Given the description of an element on the screen output the (x, y) to click on. 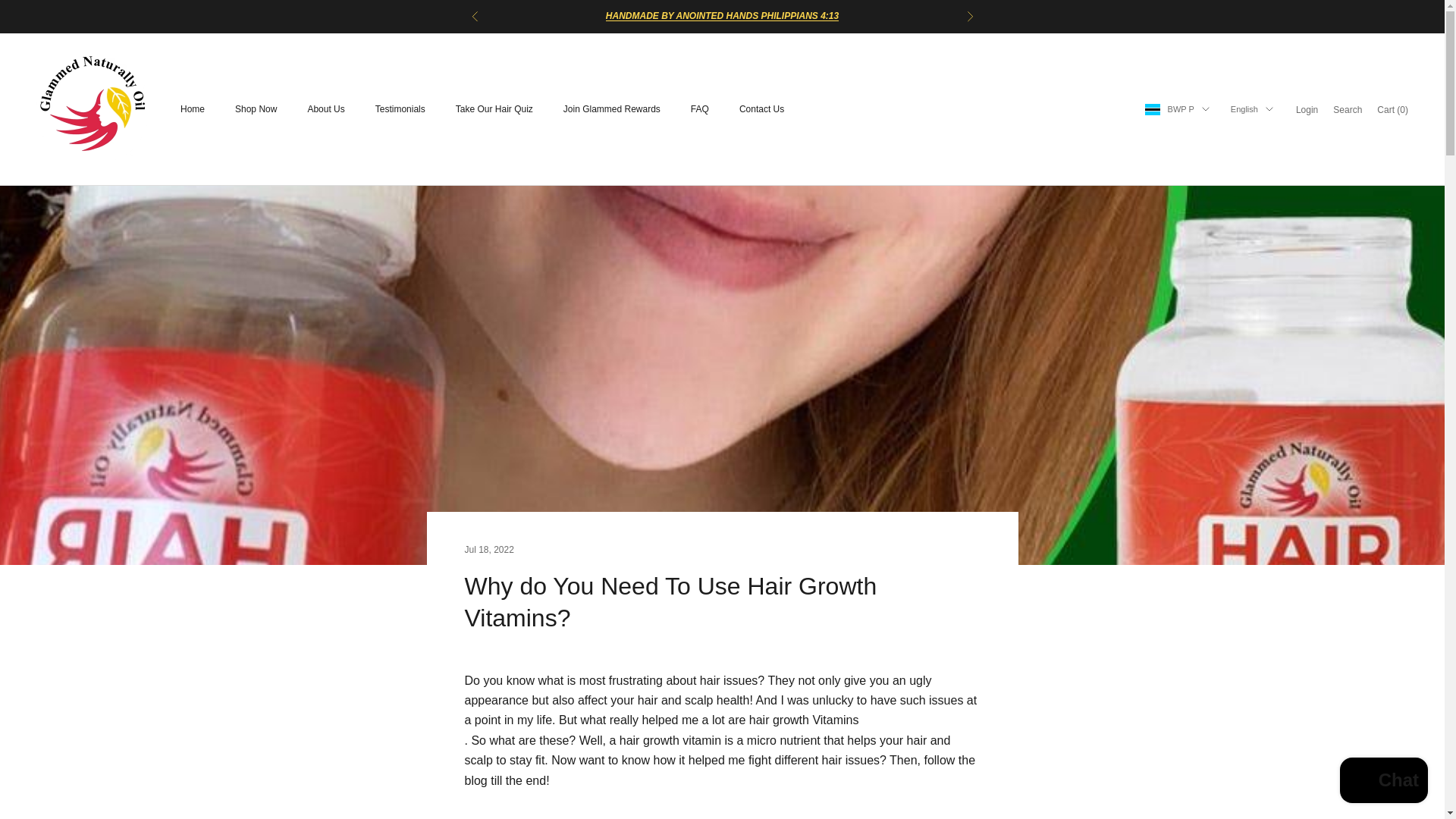
Contact Us (761, 109)
Testimonials (400, 109)
BWP P (1176, 109)
About Us (325, 109)
Our founders hair loss story.... (721, 15)
Shopify online store chat (1383, 781)
Take Our Hair Quiz (493, 109)
Join Glammed Rewards (612, 109)
GlammedNaturallyOil (92, 109)
FAQ (699, 109)
